Given the description of an element on the screen output the (x, y) to click on. 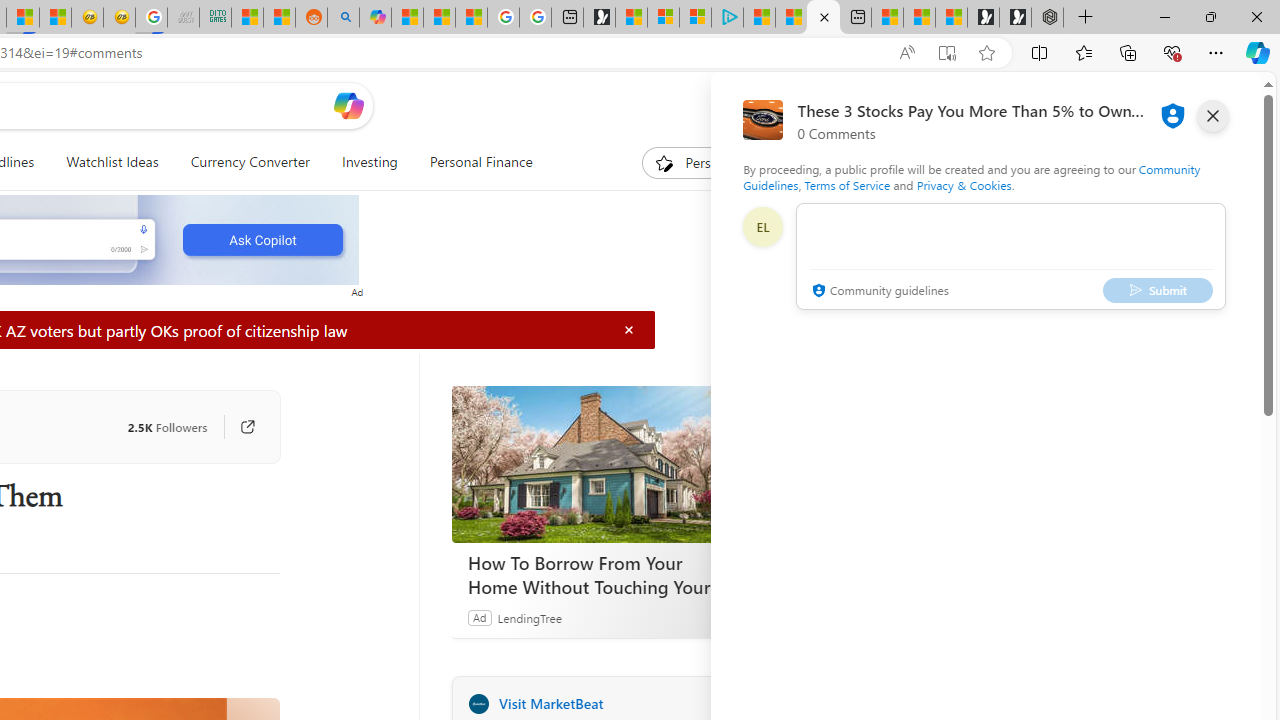
close (1212, 115)
Microsoft Copilot in Bing (374, 17)
Hide (629, 329)
Play Free Online Games | Games from Microsoft Start (1014, 17)
Microsoft Start Gaming (599, 17)
How To Borrow From Your Home Without Touching Your Mortgage (601, 574)
Visit MarketBeat website (726, 703)
Watchlist Ideas (112, 162)
Currency Converter (250, 162)
